Given the description of an element on the screen output the (x, y) to click on. 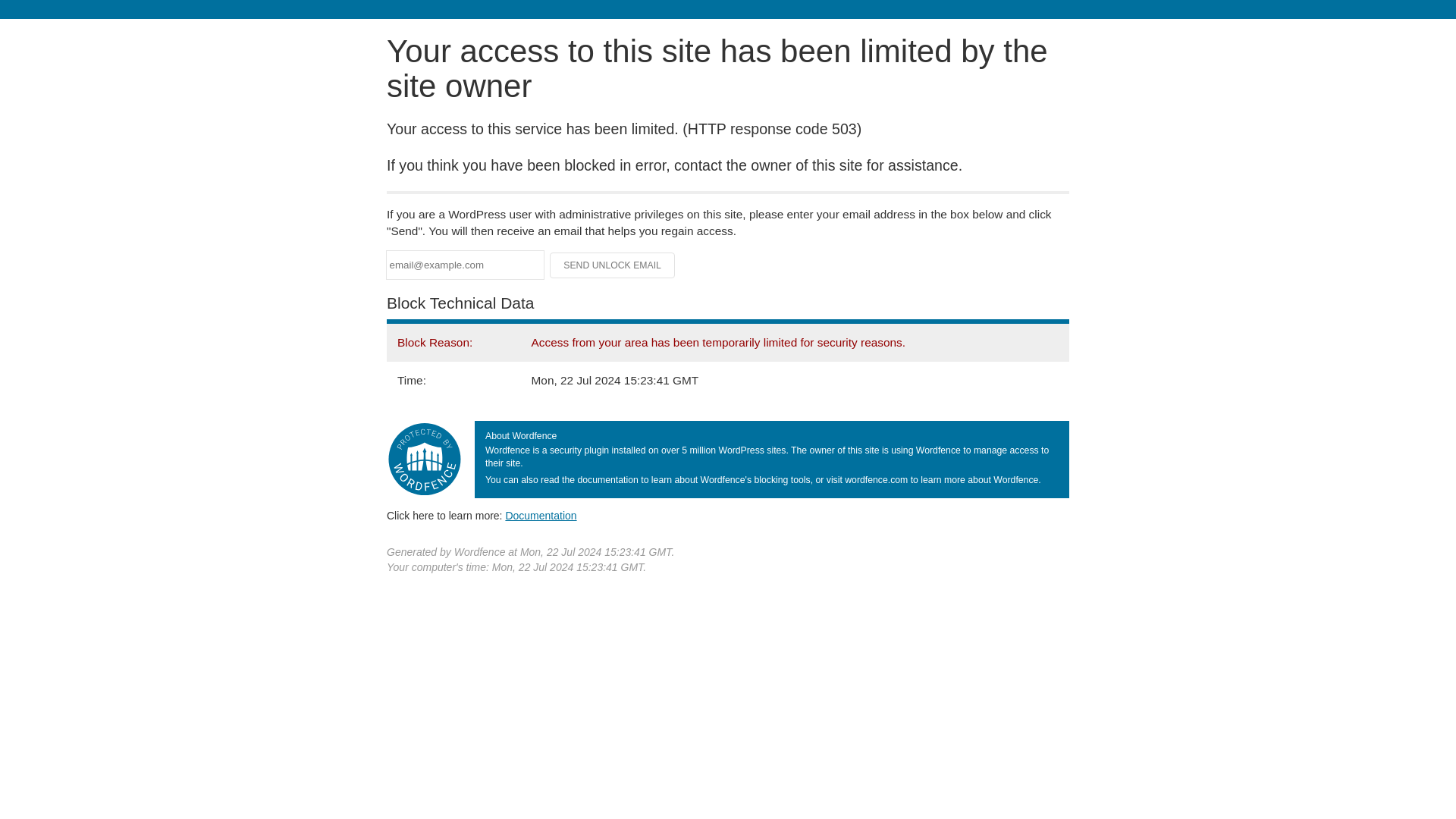
Send Unlock Email (612, 265)
Documentation (540, 515)
Send Unlock Email (612, 265)
